Given the description of an element on the screen output the (x, y) to click on. 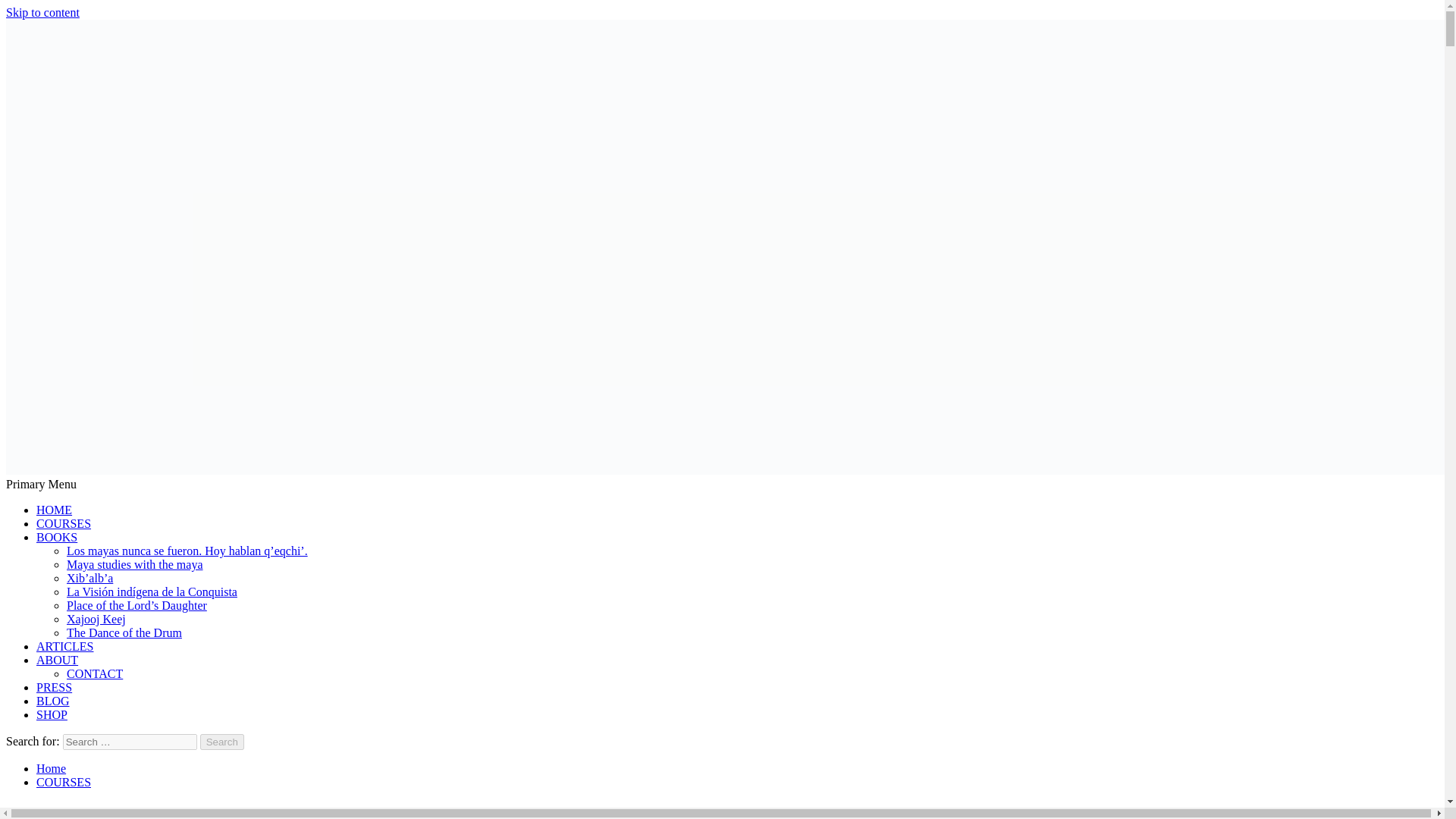
ABOUT (57, 659)
Search (222, 741)
Skip to content (42, 11)
Search (222, 741)
BOOKS (56, 536)
SHOP (51, 714)
Home (50, 768)
CONTACT (94, 673)
PRESS (53, 686)
Maya studies with the maya (134, 563)
HOME (53, 509)
The Dance of the Drum (124, 632)
Ruud Van Akkeren (51, 495)
BLOG (52, 700)
ARTICLES (64, 645)
